Given the description of an element on the screen output the (x, y) to click on. 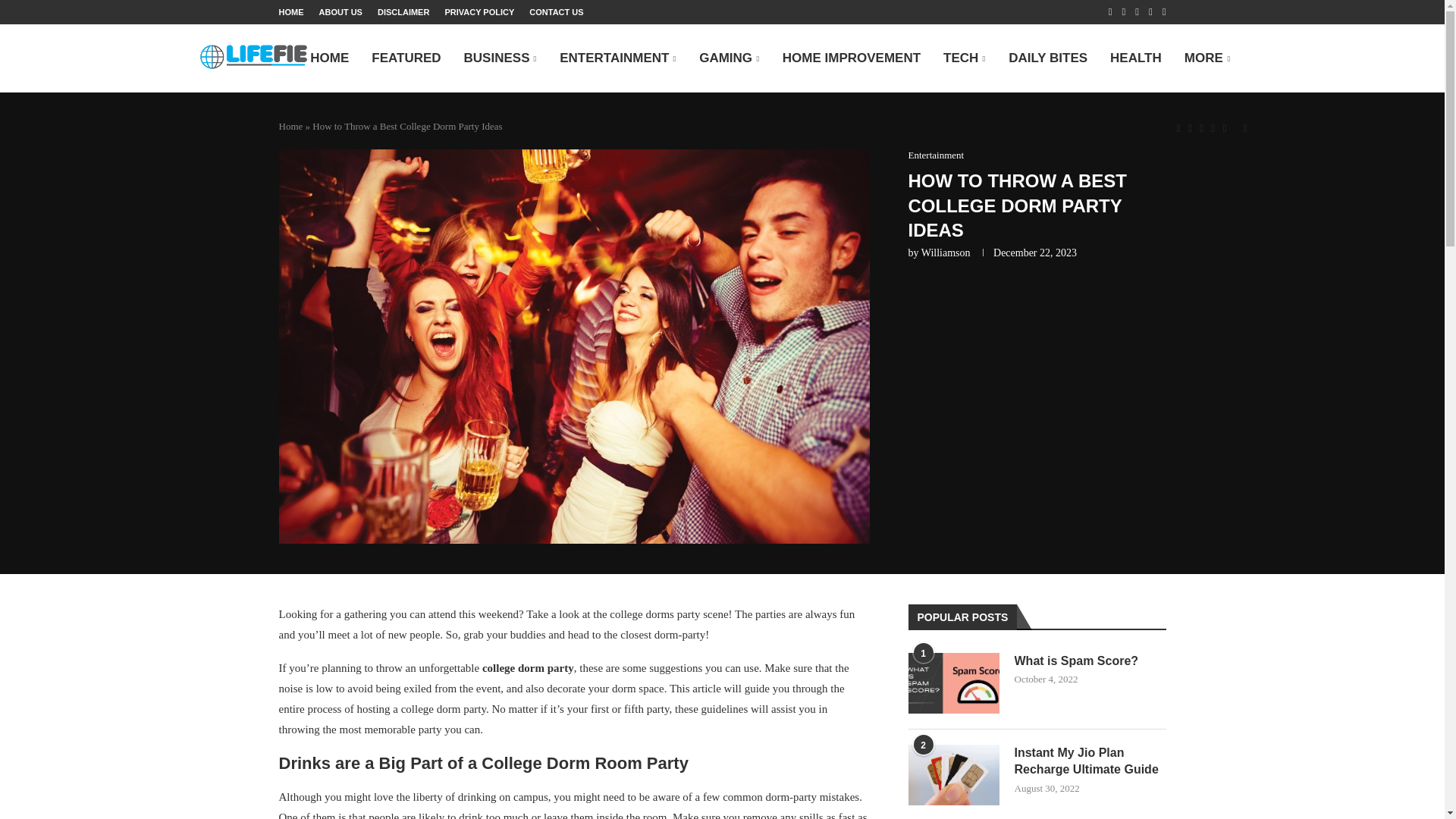
DISCLAIMER (403, 12)
BUSINESS (500, 58)
DAILY BITES (1048, 58)
HOME (291, 12)
CONTACT US (556, 12)
ENTERTAINMENT (618, 58)
GAMING (729, 58)
What is Spam Score? (953, 682)
FEATURED (406, 58)
PRIVACY POLICY (478, 12)
HOME IMPROVEMENT (851, 58)
ABOUT US (339, 12)
